Given the description of an element on the screen output the (x, y) to click on. 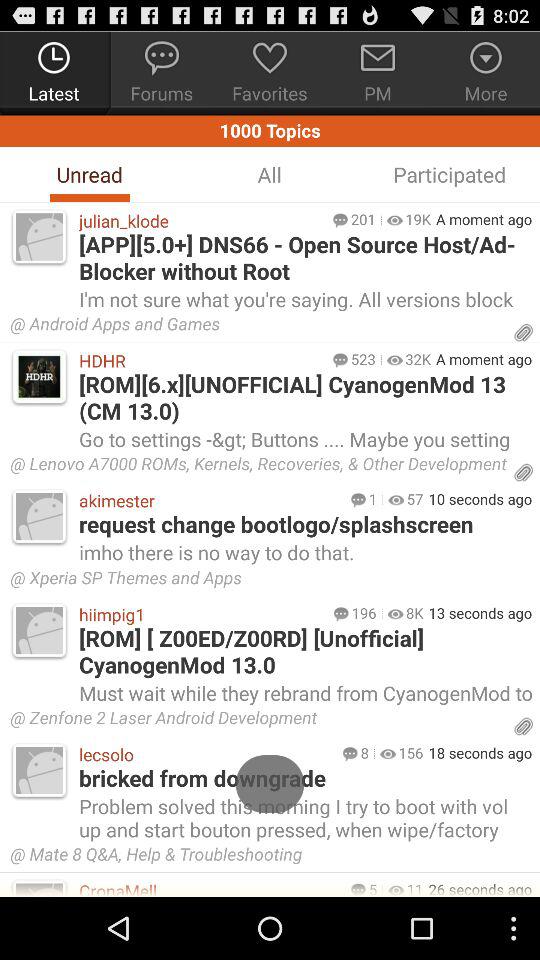
turn on app below request change bootlogo icon (304, 552)
